Given the description of an element on the screen output the (x, y) to click on. 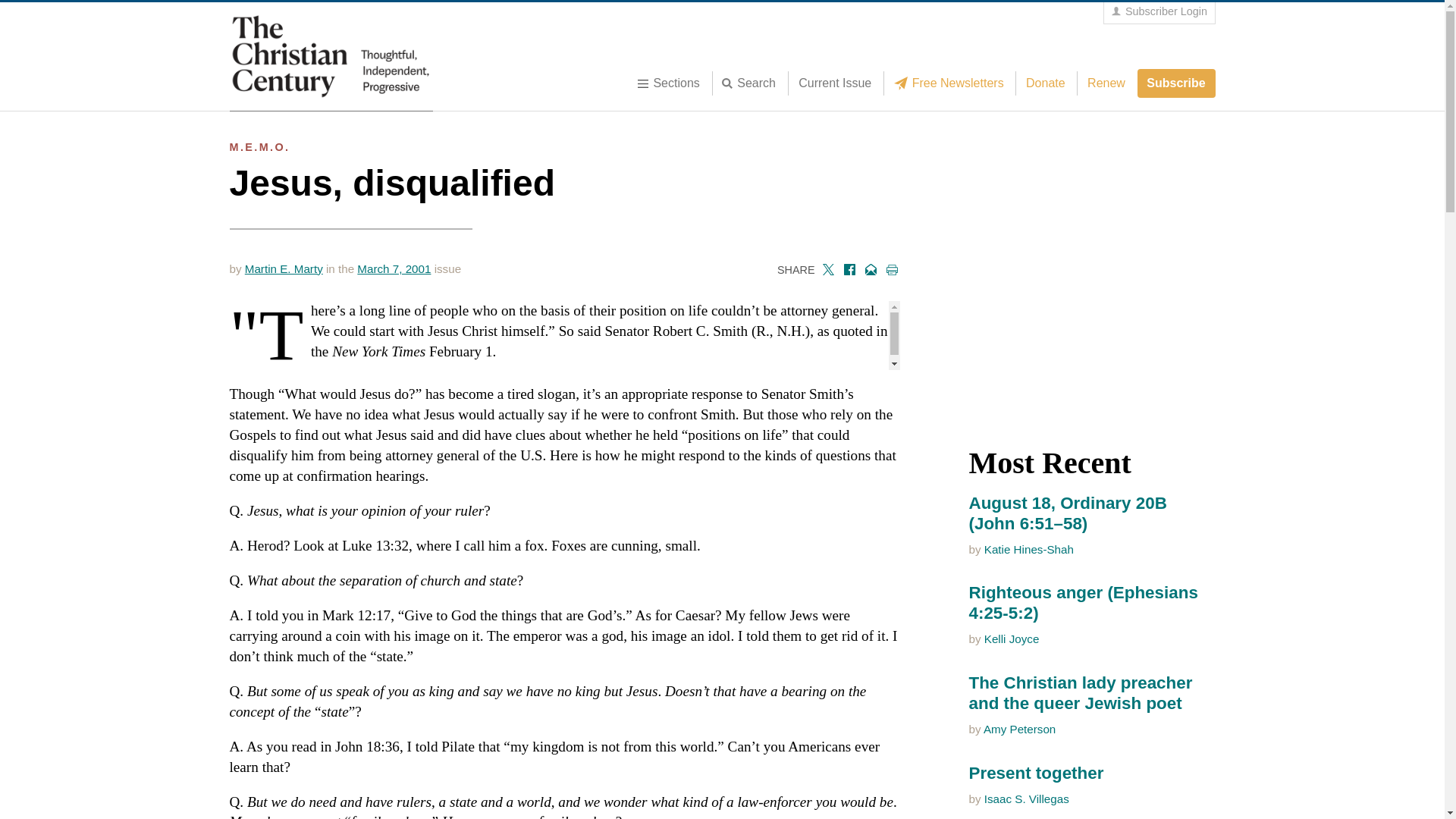
Subscriber Login (1159, 11)
Donate (1045, 83)
Renew (1105, 83)
Back to homepage (330, 56)
title (753, 83)
Current Issue (834, 83)
Subscribe (1176, 82)
Free Newsletters (952, 83)
